Given the description of an element on the screen output the (x, y) to click on. 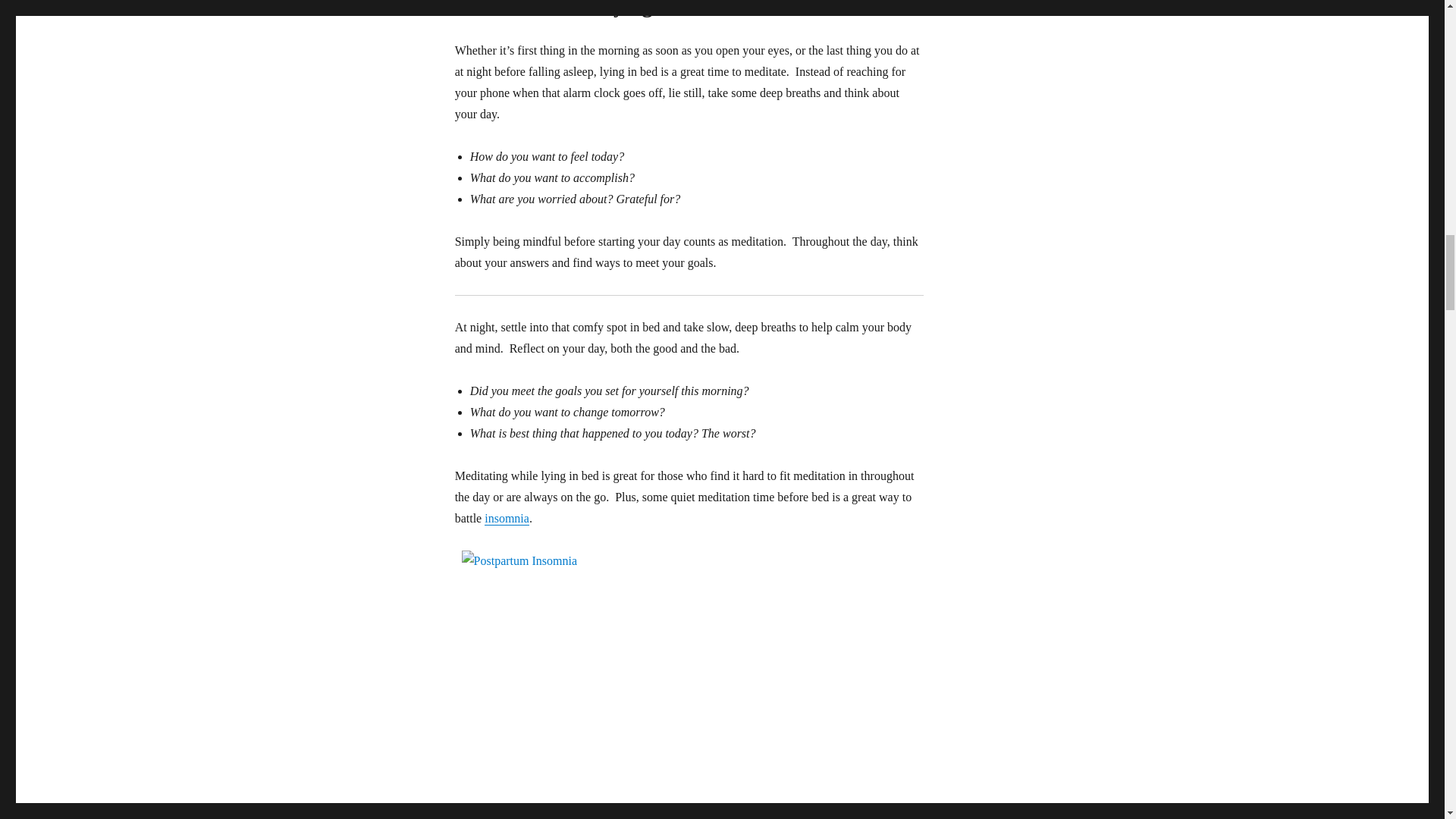
insomnia (506, 517)
